Given the description of an element on the screen output the (x, y) to click on. 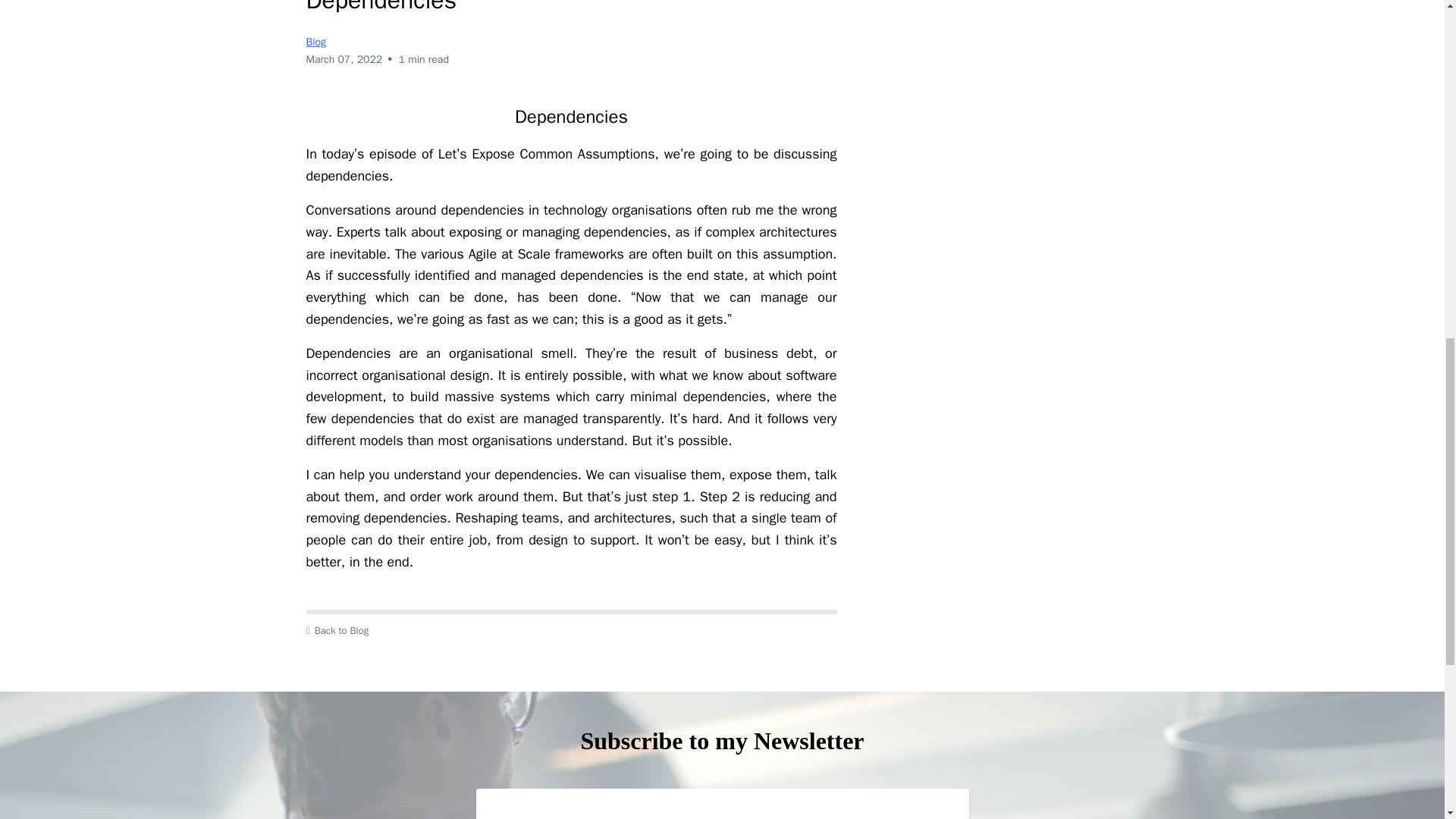
Blog (315, 42)
Back to Blog (571, 631)
